Given the description of an element on the screen output the (x, y) to click on. 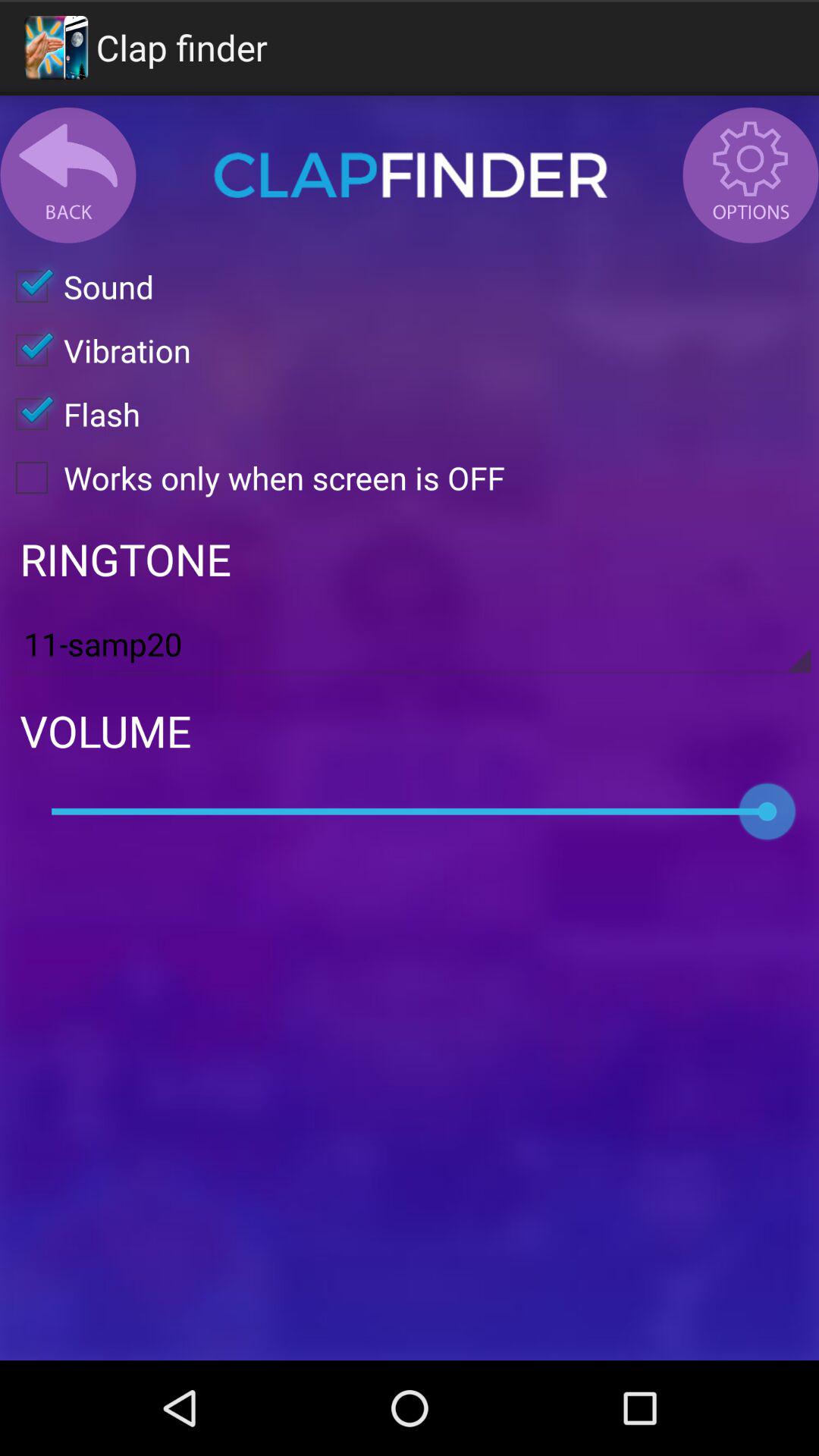
select icon above the vibration icon (77, 286)
